Given the description of an element on the screen output the (x, y) to click on. 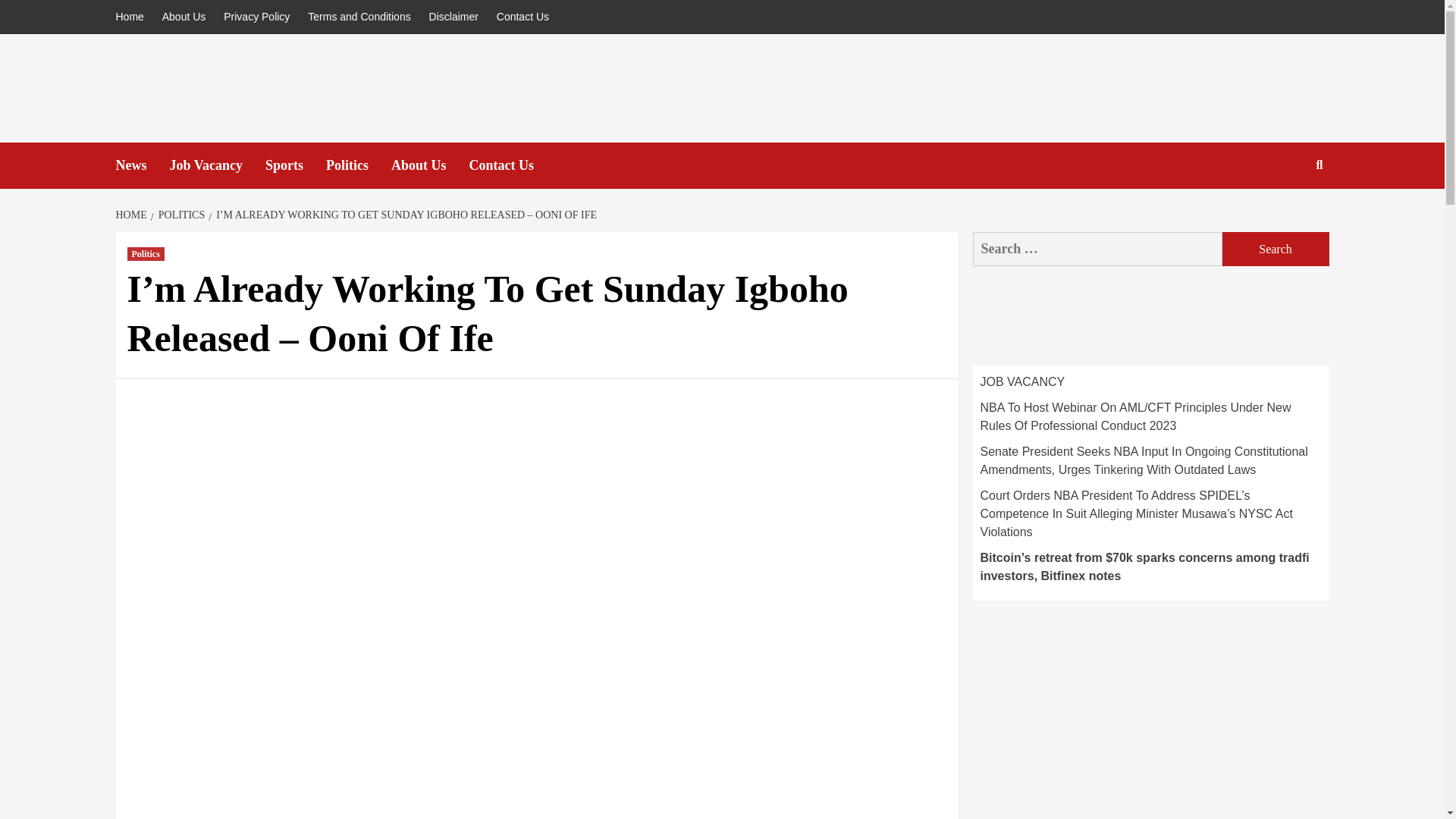
Search (1276, 248)
Disclaimer (454, 17)
Search (1276, 248)
POLITICS (179, 214)
Politics (146, 254)
HOME (132, 214)
News (141, 165)
Job Vacancy (218, 165)
Search (1283, 213)
Contact Us (512, 165)
